Given the description of an element on the screen output the (x, y) to click on. 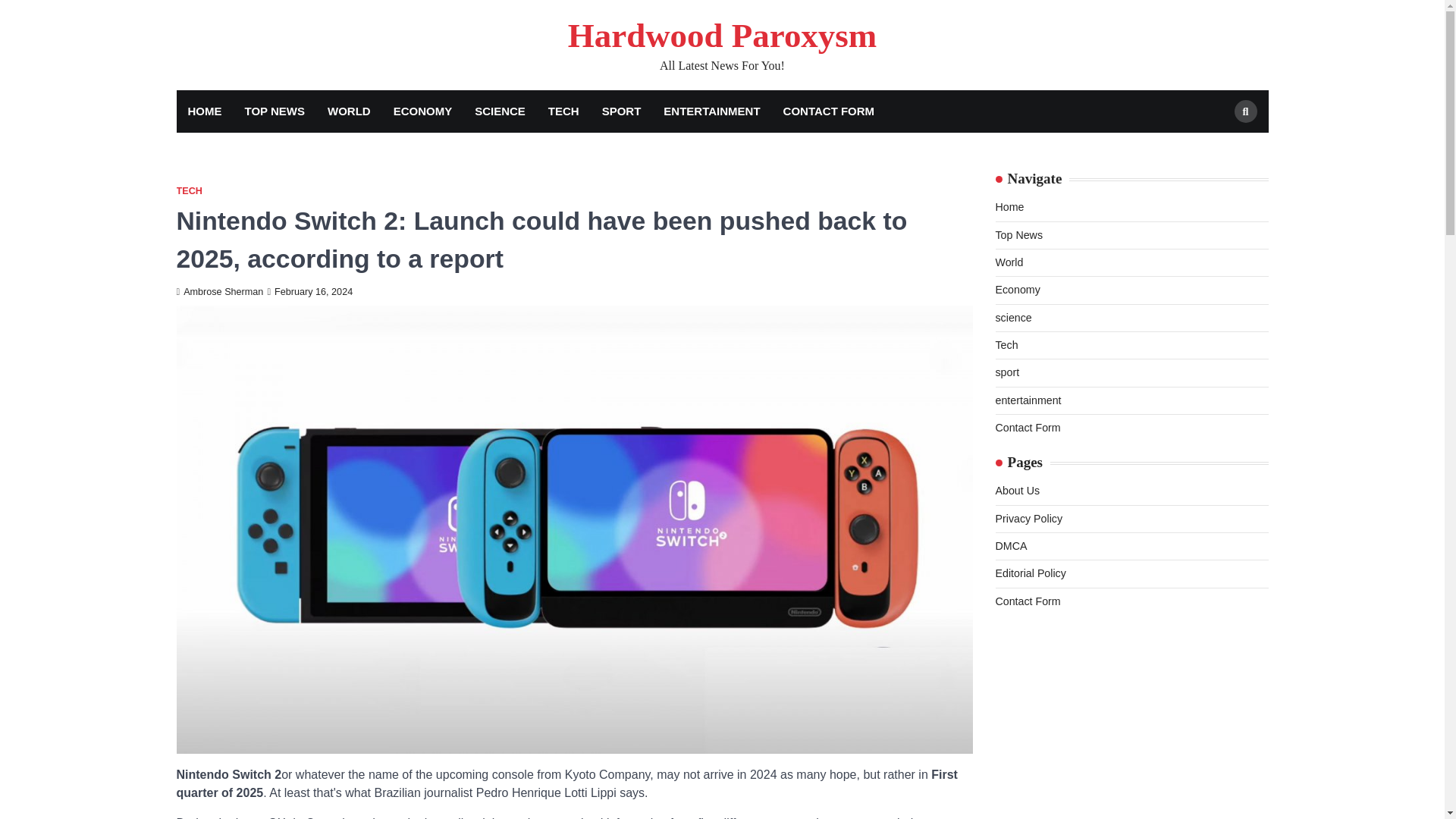
World (1008, 262)
entertainment (1027, 399)
CONTACT FORM (828, 111)
Tech (1005, 345)
WORLD (348, 111)
ECONOMY (422, 111)
science (1012, 317)
sport (1006, 372)
Editorial Policy (1029, 573)
